Given the description of an element on the screen output the (x, y) to click on. 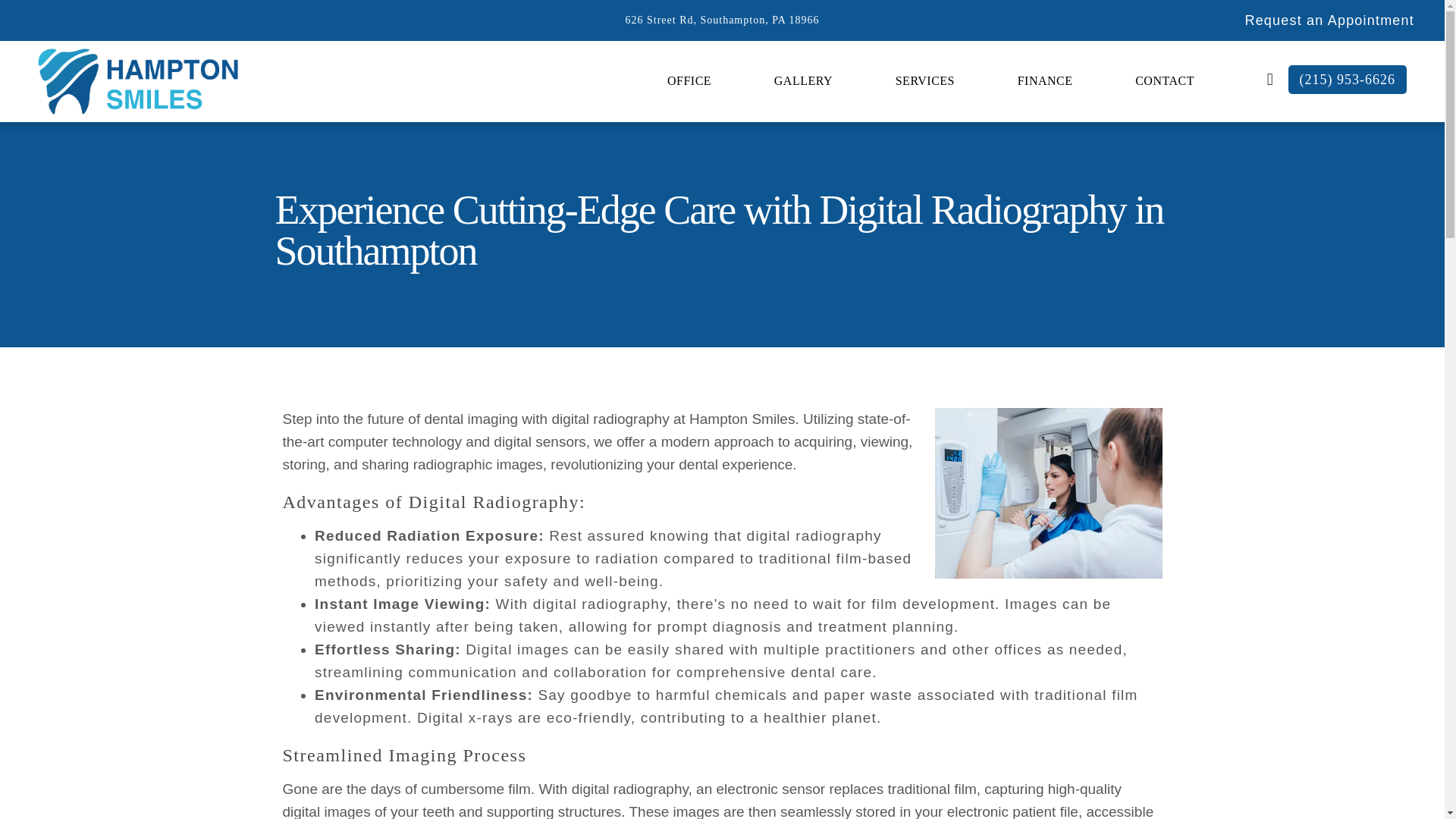
Request an Appointment (1328, 20)
CONTACT (1164, 81)
FINANCE (1045, 81)
OFFICE (689, 81)
GALLERY (803, 81)
SERVICES (925, 81)
